Given the description of an element on the screen output the (x, y) to click on. 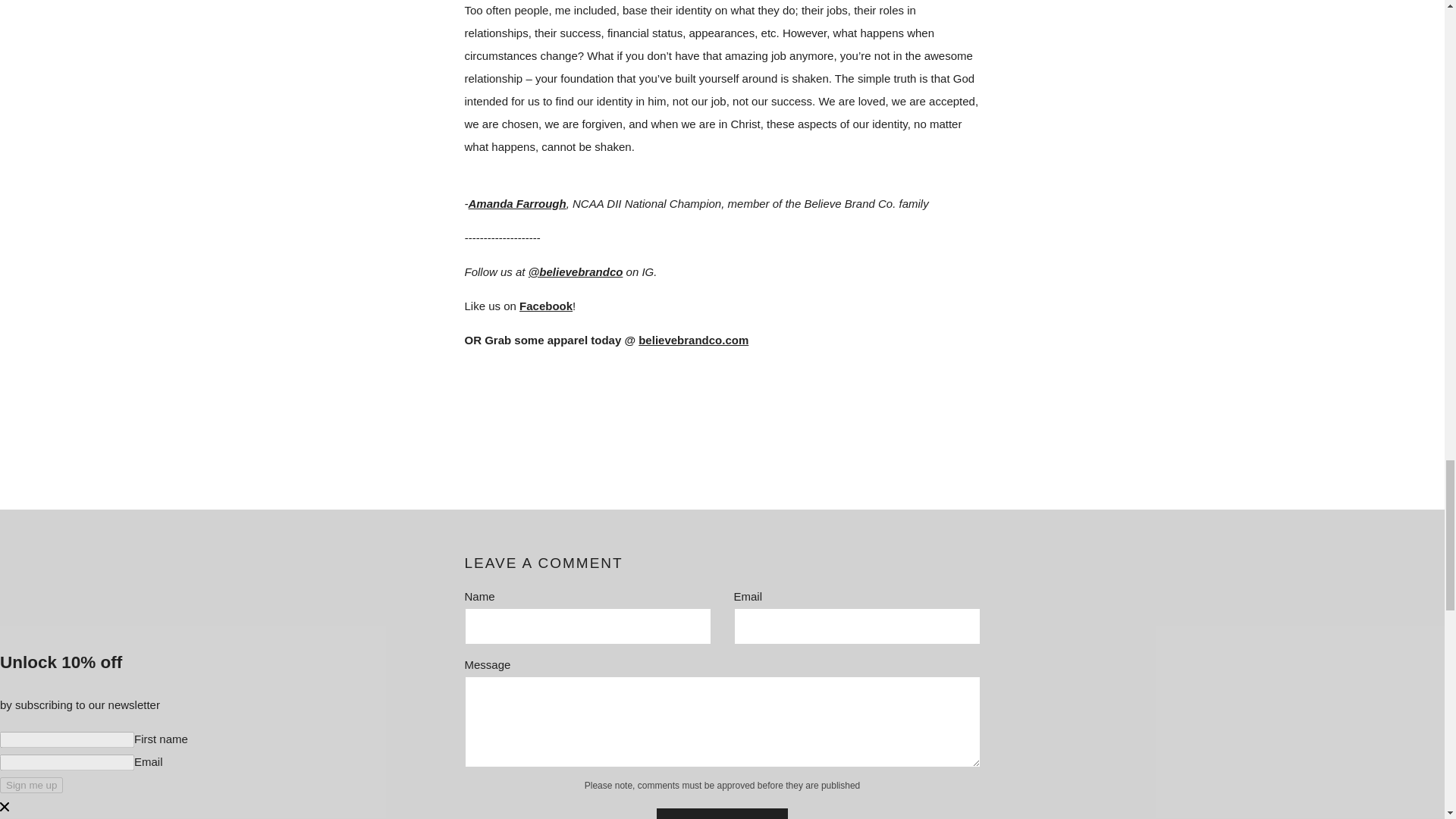
Post comment (722, 813)
believebrandco.com (693, 339)
Amanda Farrough (517, 203)
Facebook (545, 305)
Post comment (722, 813)
